Given the description of an element on the screen output the (x, y) to click on. 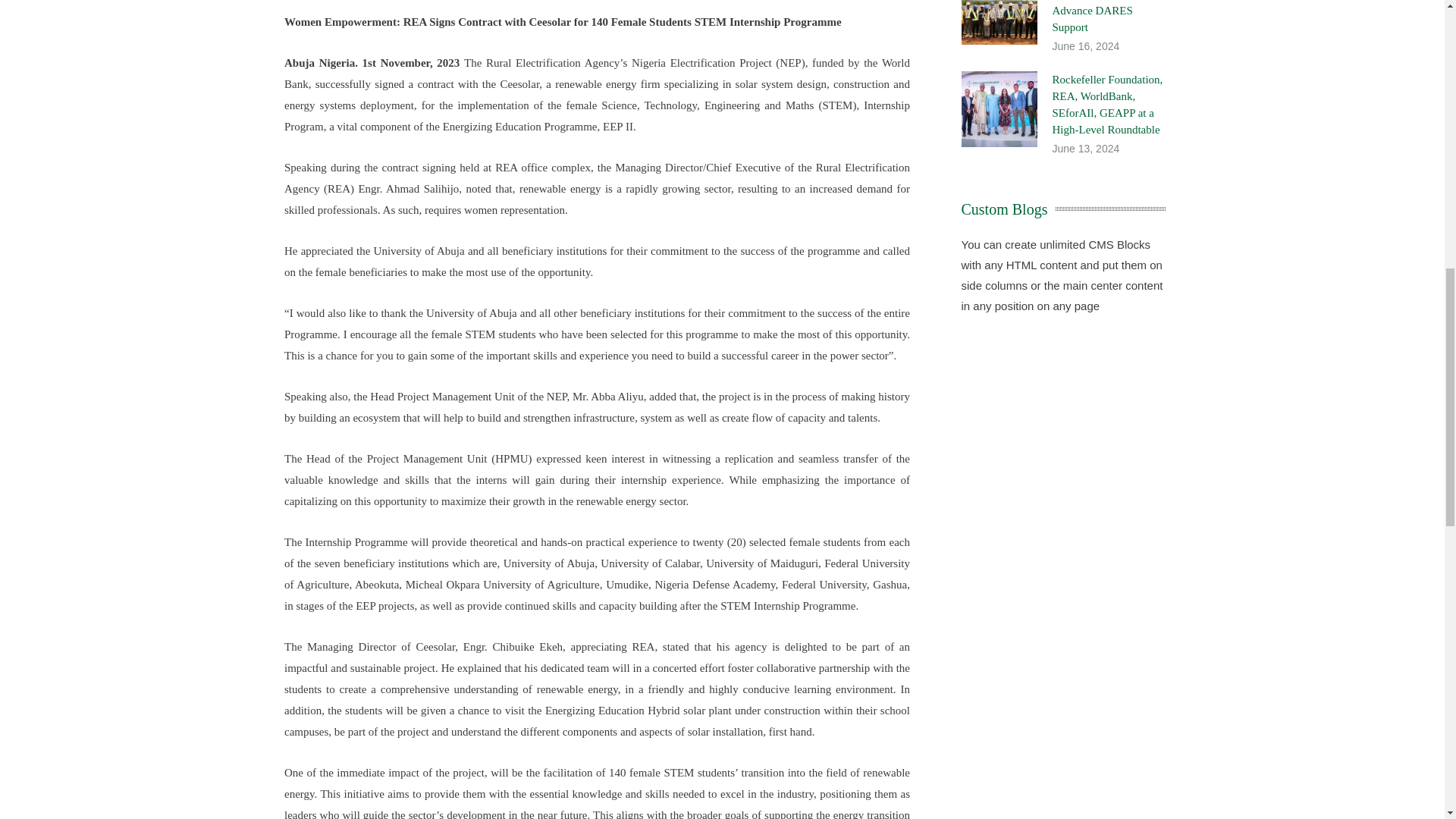
JICA Conducts Fact-Finding Mission to Advance DARES Support (1100, 16)
